Given the description of an element on the screen output the (x, y) to click on. 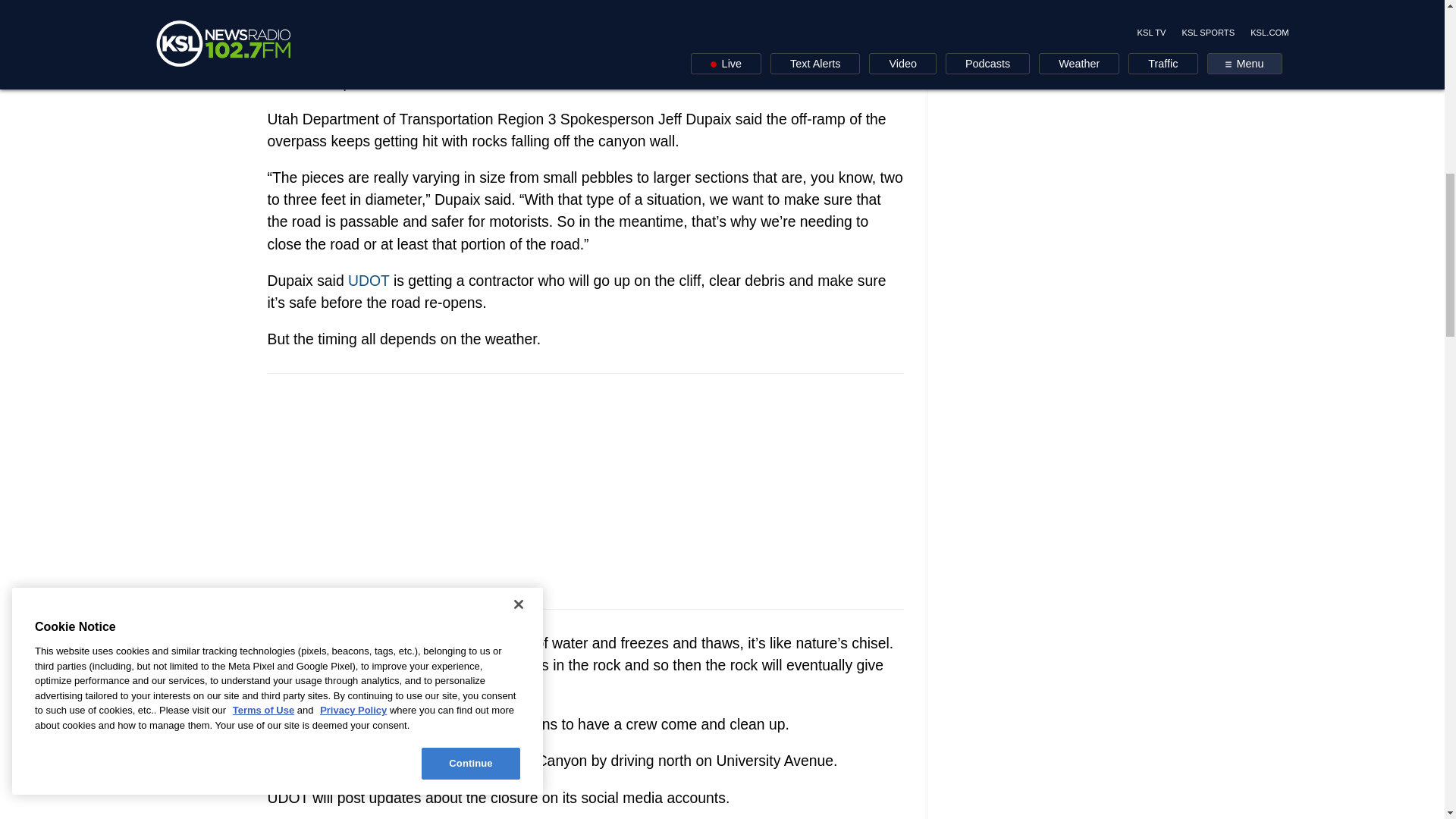
3rd party ad content (584, 491)
